Given the description of an element on the screen output the (x, y) to click on. 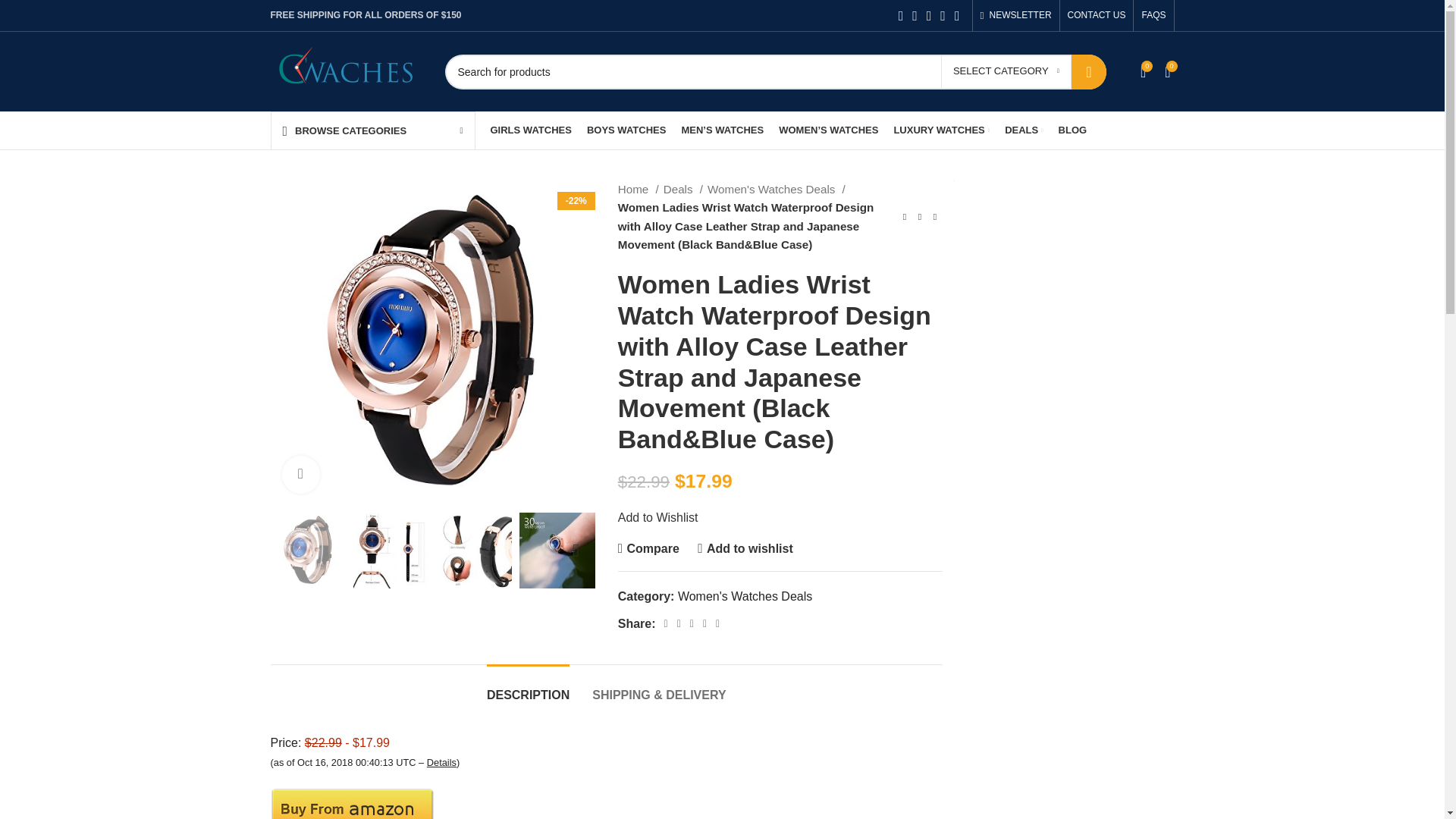
Compare products (1167, 71)
FAQS (1153, 15)
41KTtf2MucL.jpg (1096, 342)
41FbVIu54dL.jpg (764, 342)
SELECT CATEGORY (1005, 71)
SEARCH (1088, 71)
SELECT CATEGORY (1005, 71)
51mD6zIyZBL.jpg (431, 342)
My Wishlist (1142, 71)
0 (1142, 71)
CONTACT US (1096, 15)
NEWSLETTER (1015, 15)
0 (1167, 71)
Search for products (774, 71)
